Given the description of an element on the screen output the (x, y) to click on. 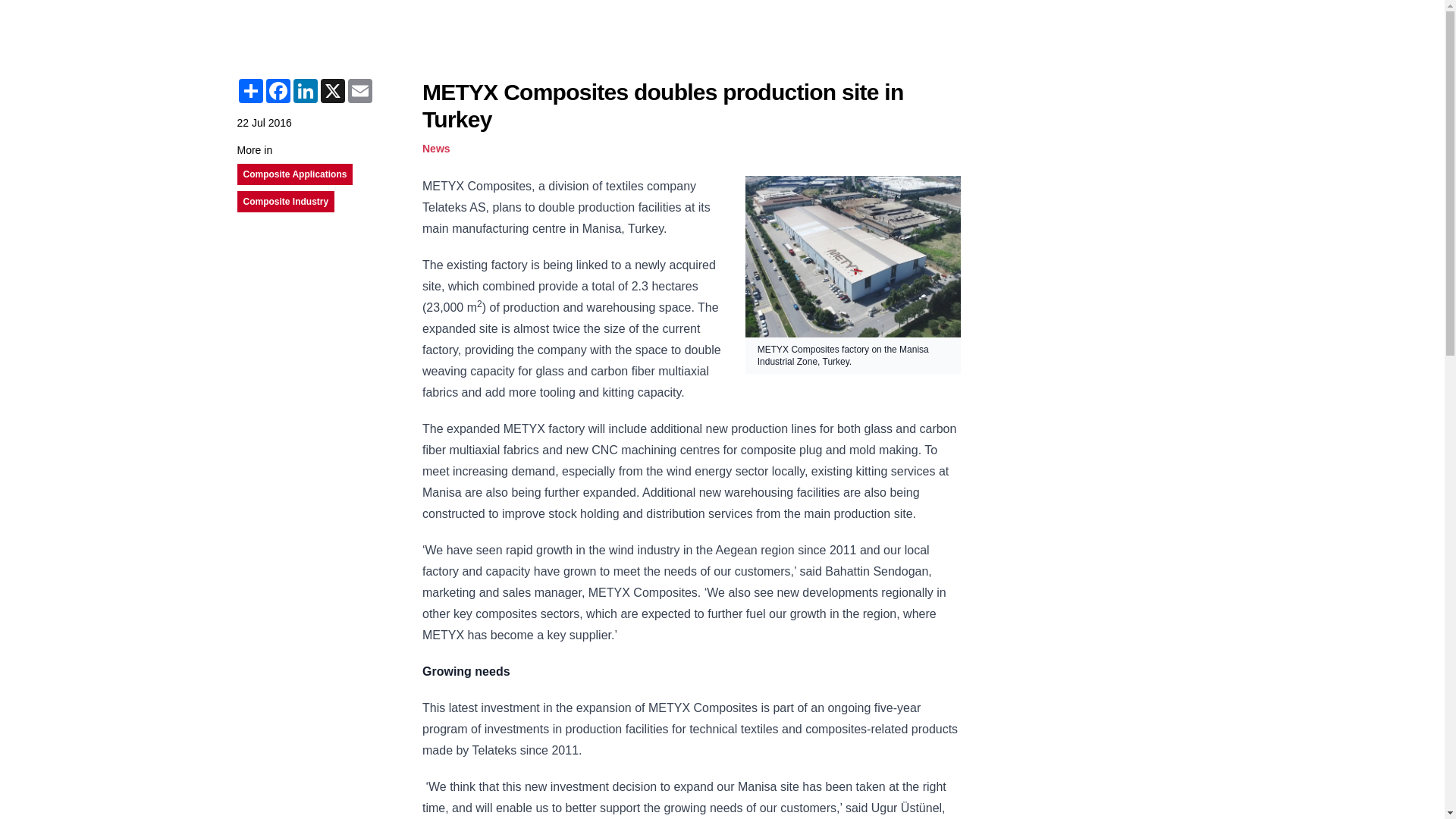
Facebook (277, 90)
News (435, 148)
Composite Industry (286, 201)
X (332, 90)
Composite Applications (294, 174)
LinkedIn (304, 90)
Email (359, 90)
